Given the description of an element on the screen output the (x, y) to click on. 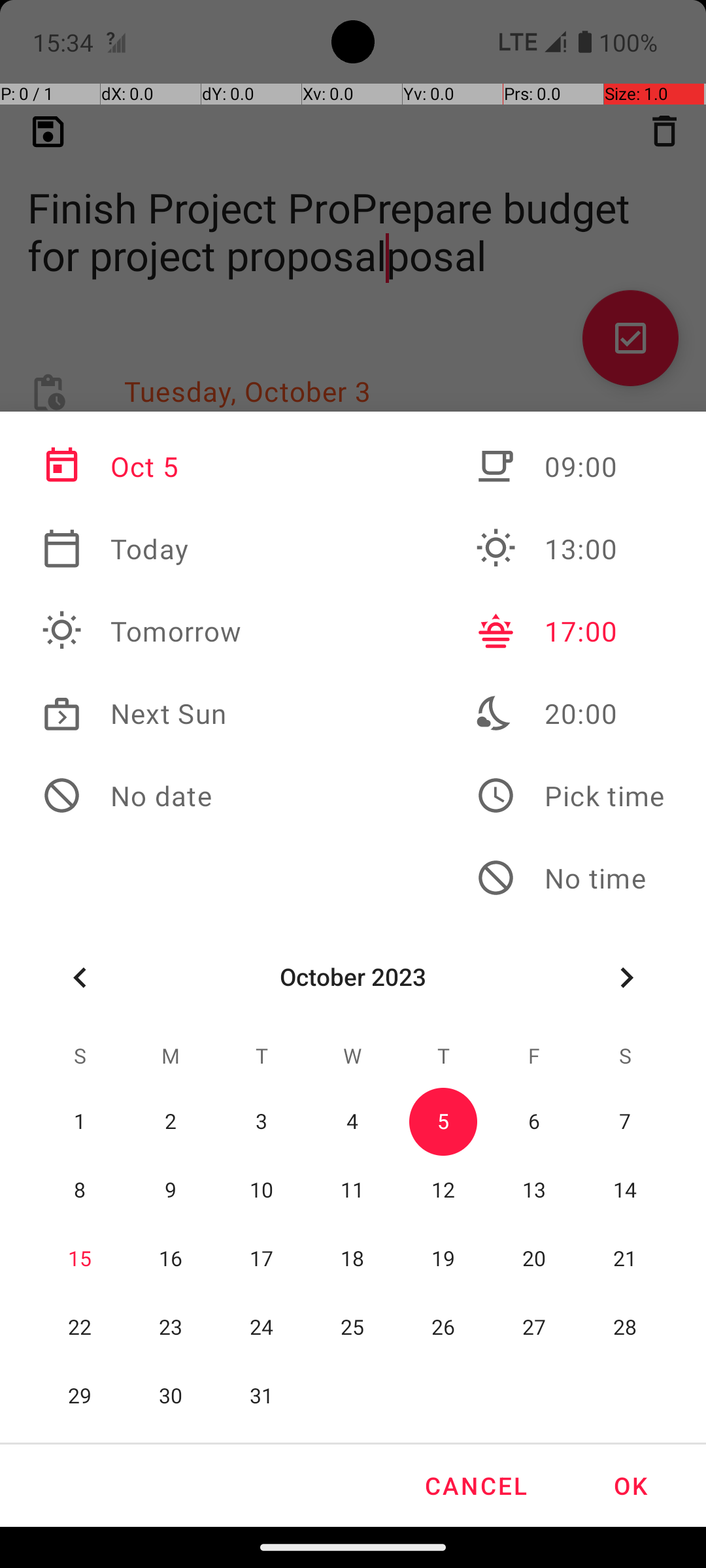
Oct 5 Element type: android.widget.CompoundButton (141, 466)
